Given the description of an element on the screen output the (x, y) to click on. 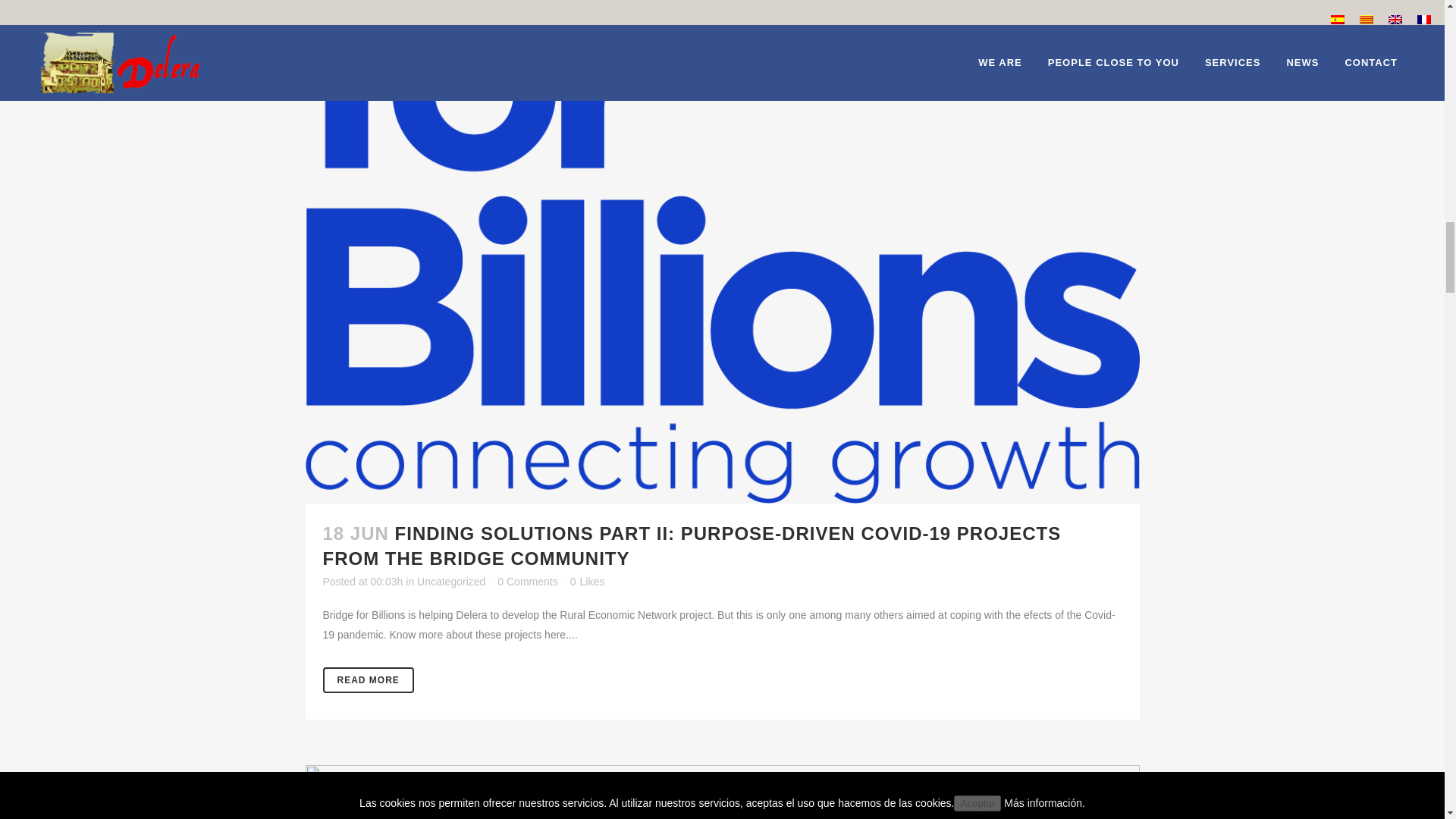
Like this (587, 581)
0 Likes (587, 581)
0 Comments (527, 581)
